Given the description of an element on the screen output the (x, y) to click on. 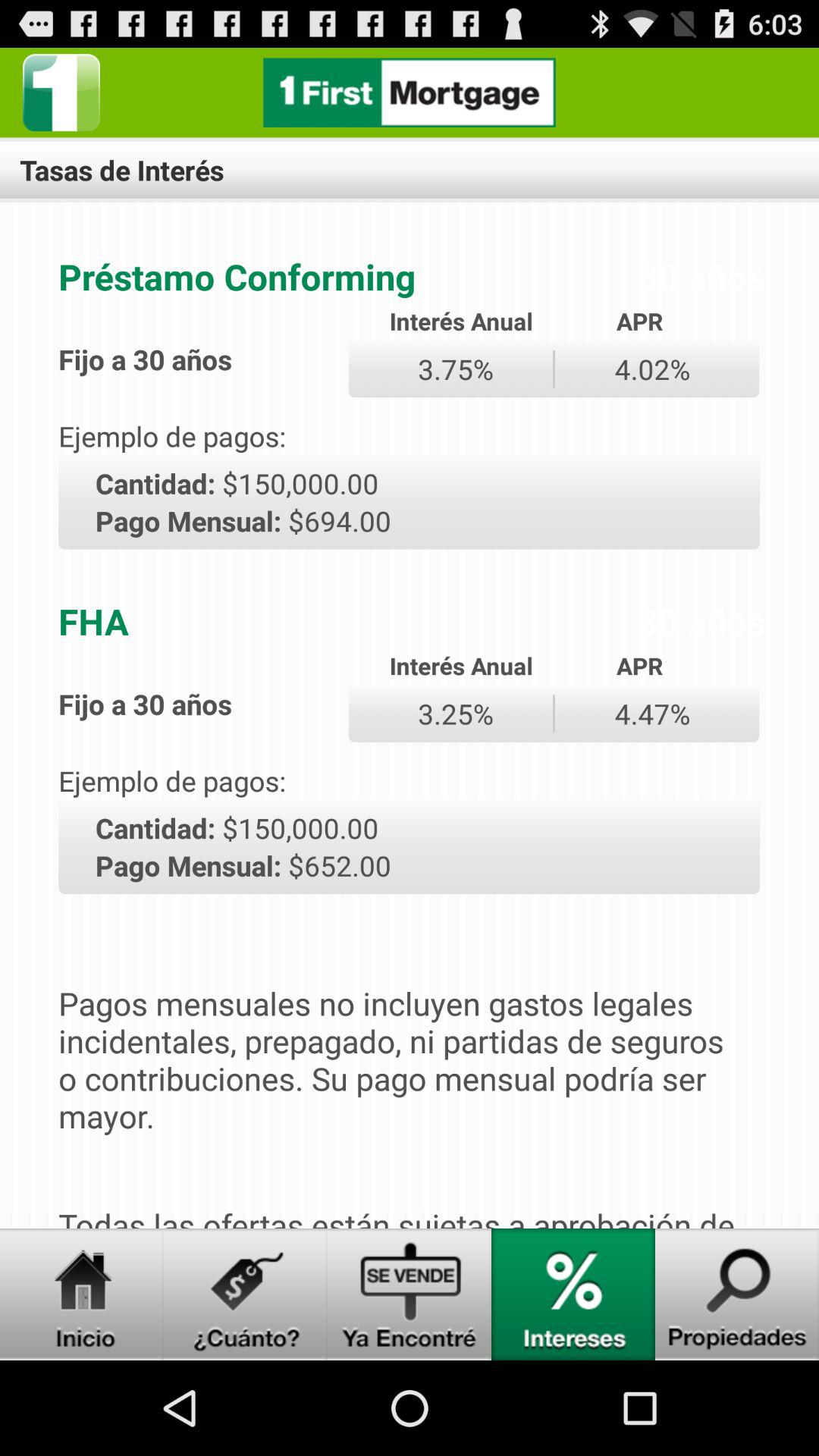
search (737, 1294)
